Given the description of an element on the screen output the (x, y) to click on. 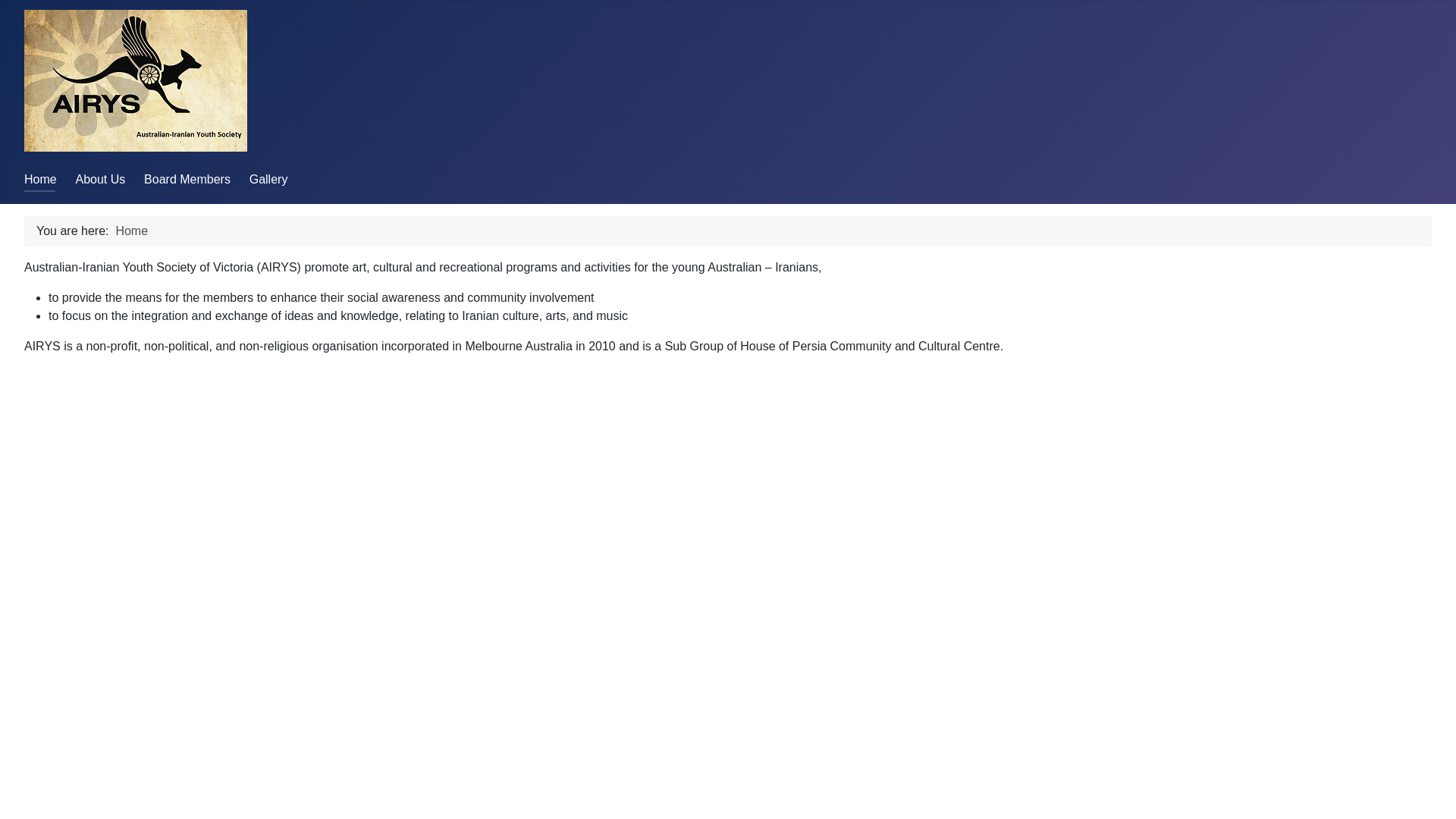
About Us Element type: text (100, 178)
Board Members Element type: text (187, 178)
Home Element type: text (40, 178)
Gallery Element type: text (268, 178)
